Given the description of an element on the screen output the (x, y) to click on. 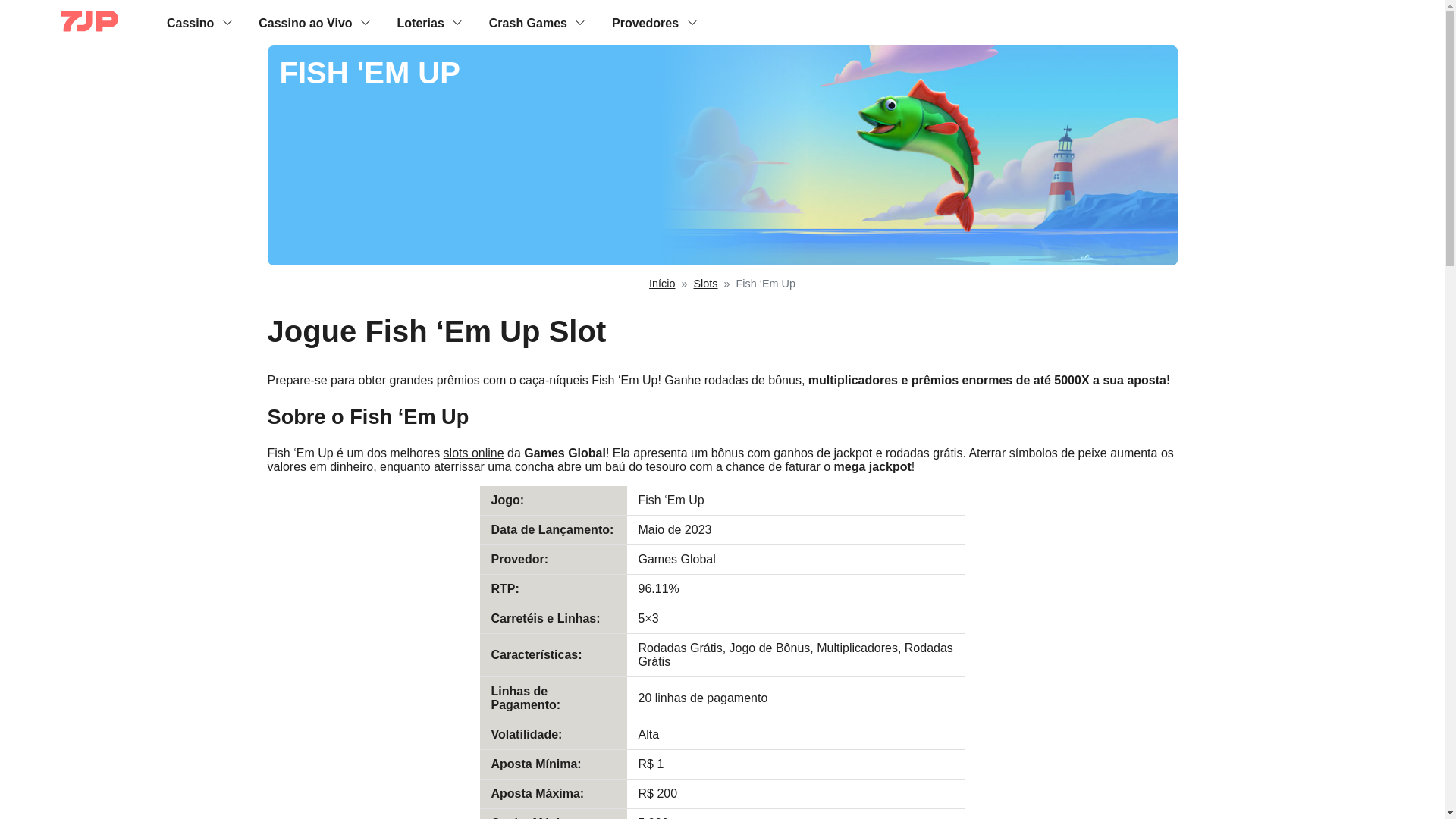
Cassino (190, 22)
Crash Games (528, 22)
Cassino ao Vivo (305, 22)
Loterias (420, 22)
